Given the description of an element on the screen output the (x, y) to click on. 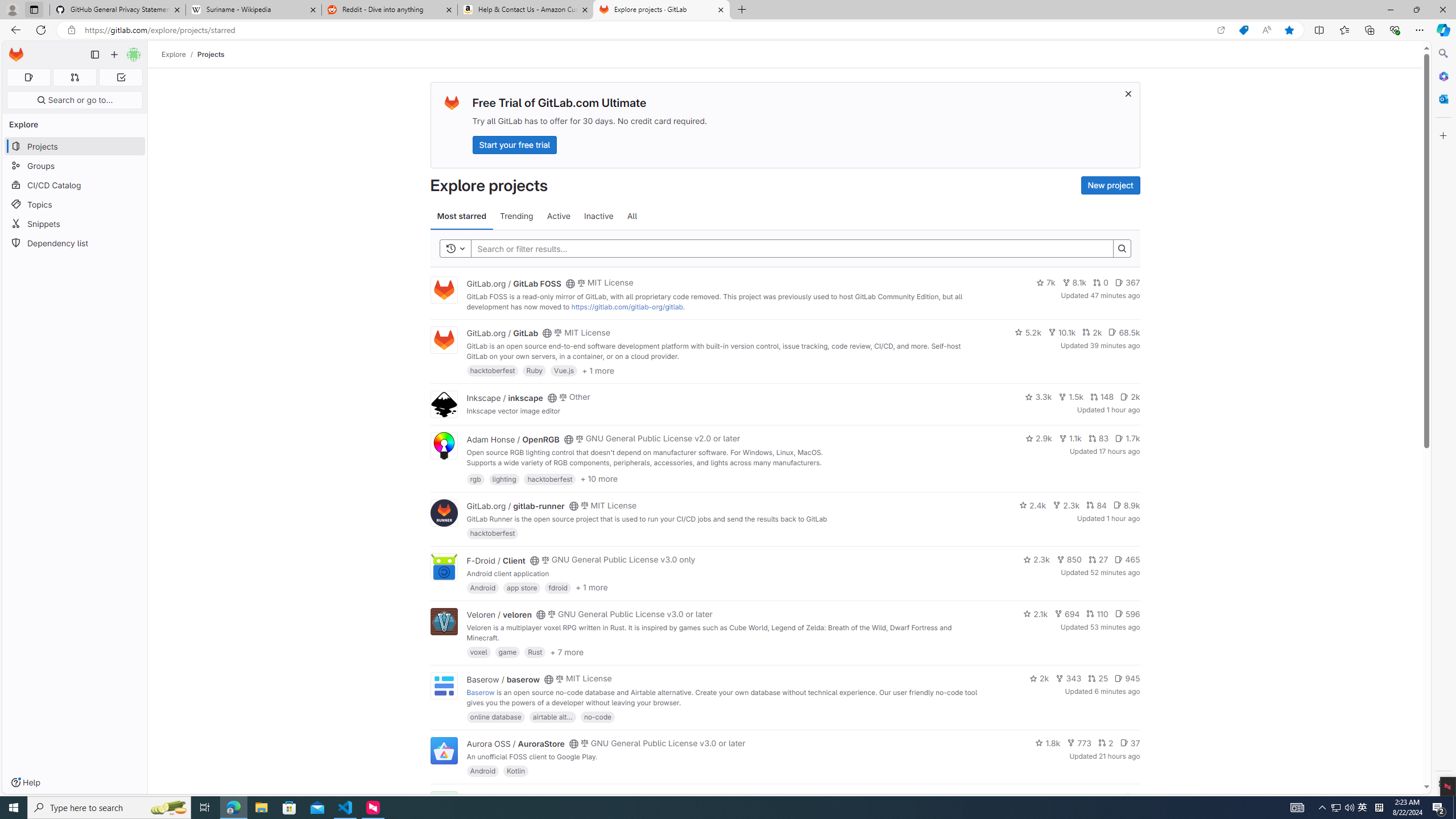
1.8k (1048, 742)
25 (1097, 678)
Suriname - Wikipedia (253, 9)
Projects (211, 53)
Android (482, 770)
2 (1105, 742)
GitHub General Privacy Statement - GitHub Docs (117, 9)
Groups (74, 165)
Baserow / baserow (502, 678)
6 (1132, 797)
